Given the description of an element on the screen output the (x, y) to click on. 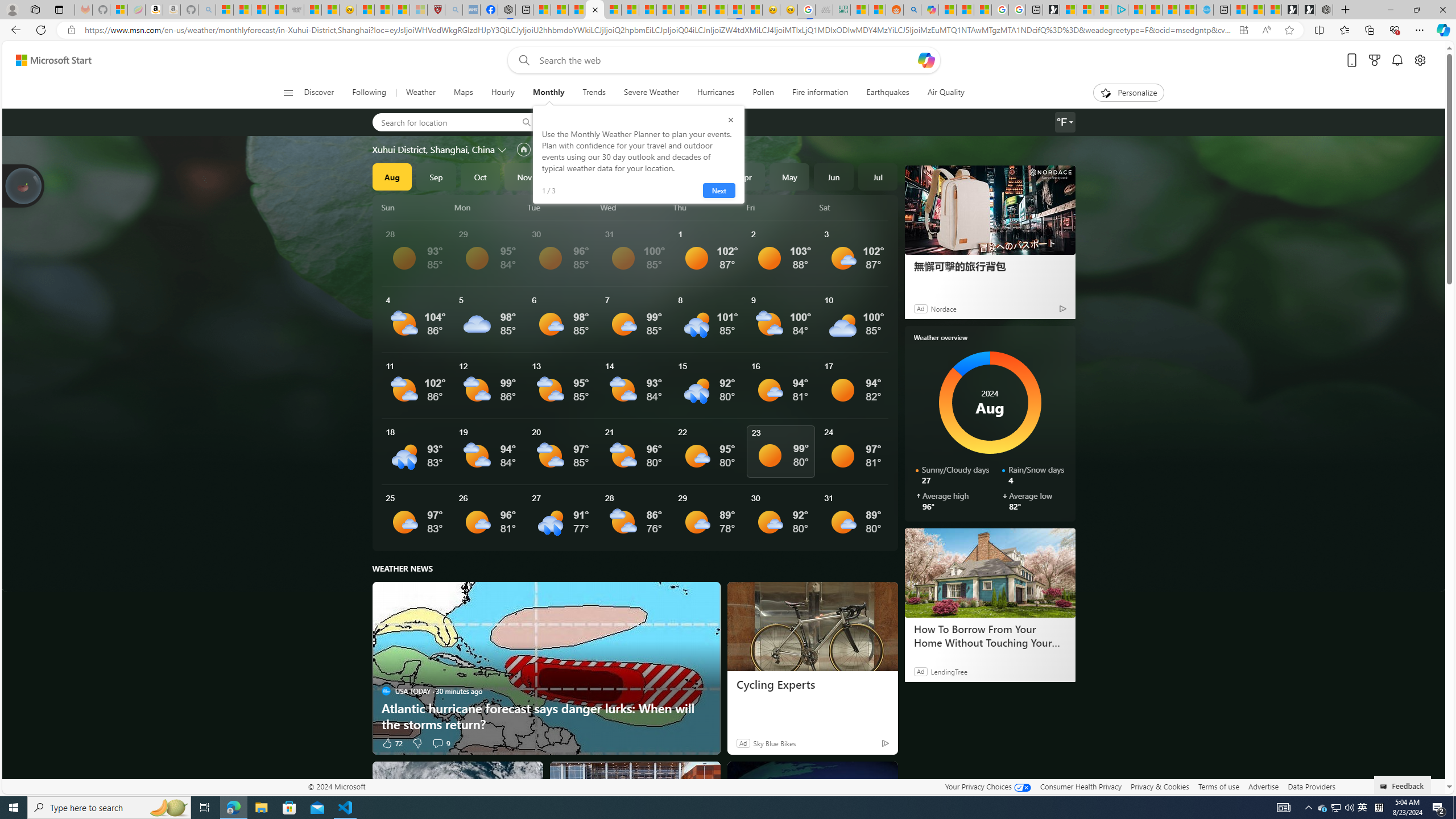
Hurricanes (716, 92)
Oct (480, 176)
View comments 9 Comment (437, 743)
Thu (707, 207)
Aug (391, 176)
